Given the description of an element on the screen output the (x, y) to click on. 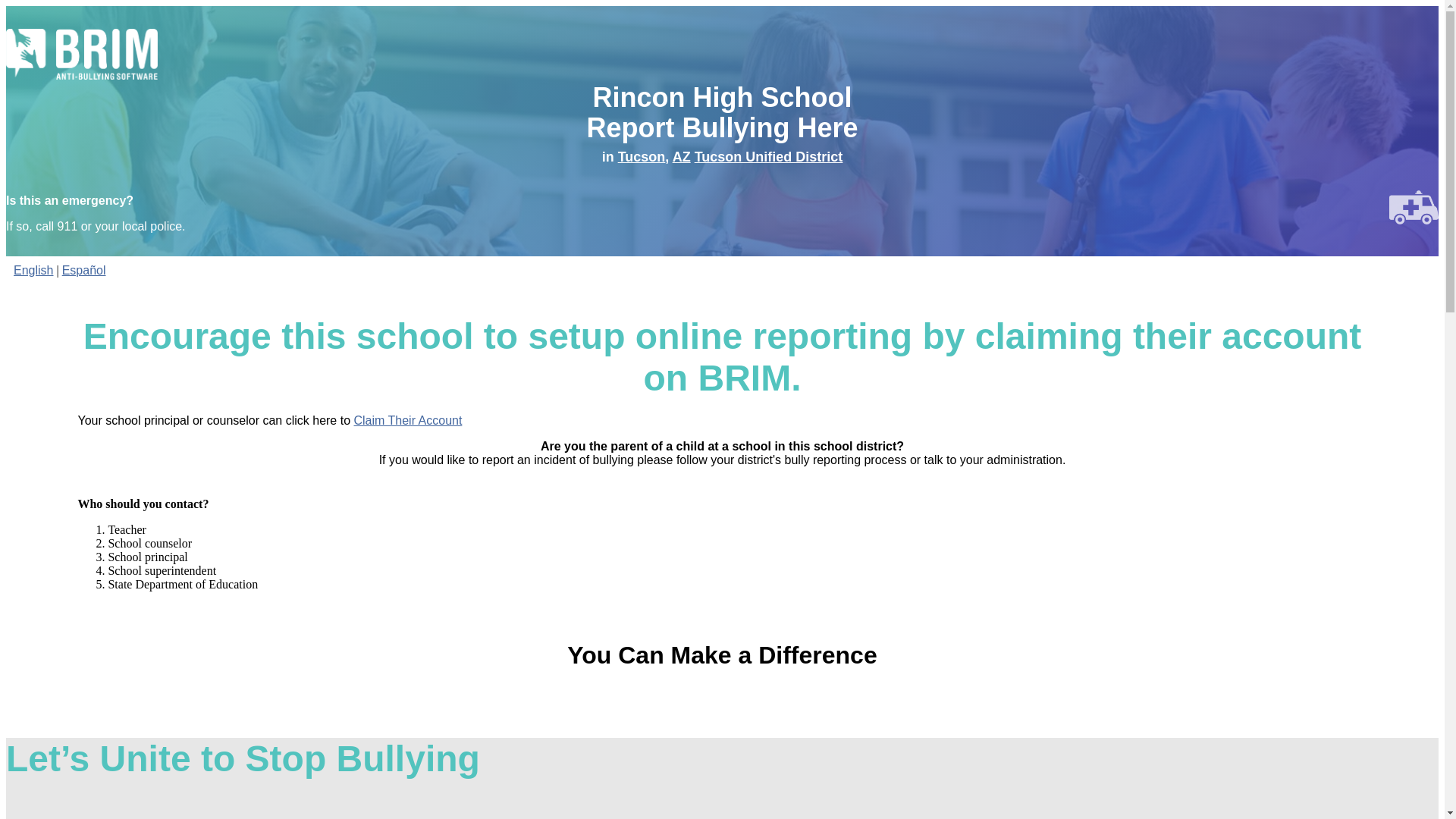
Tucson Unified District (768, 156)
English (32, 269)
Tucson (641, 156)
Claim Their Account (407, 420)
AZ (681, 156)
